Given the description of an element on the screen output the (x, y) to click on. 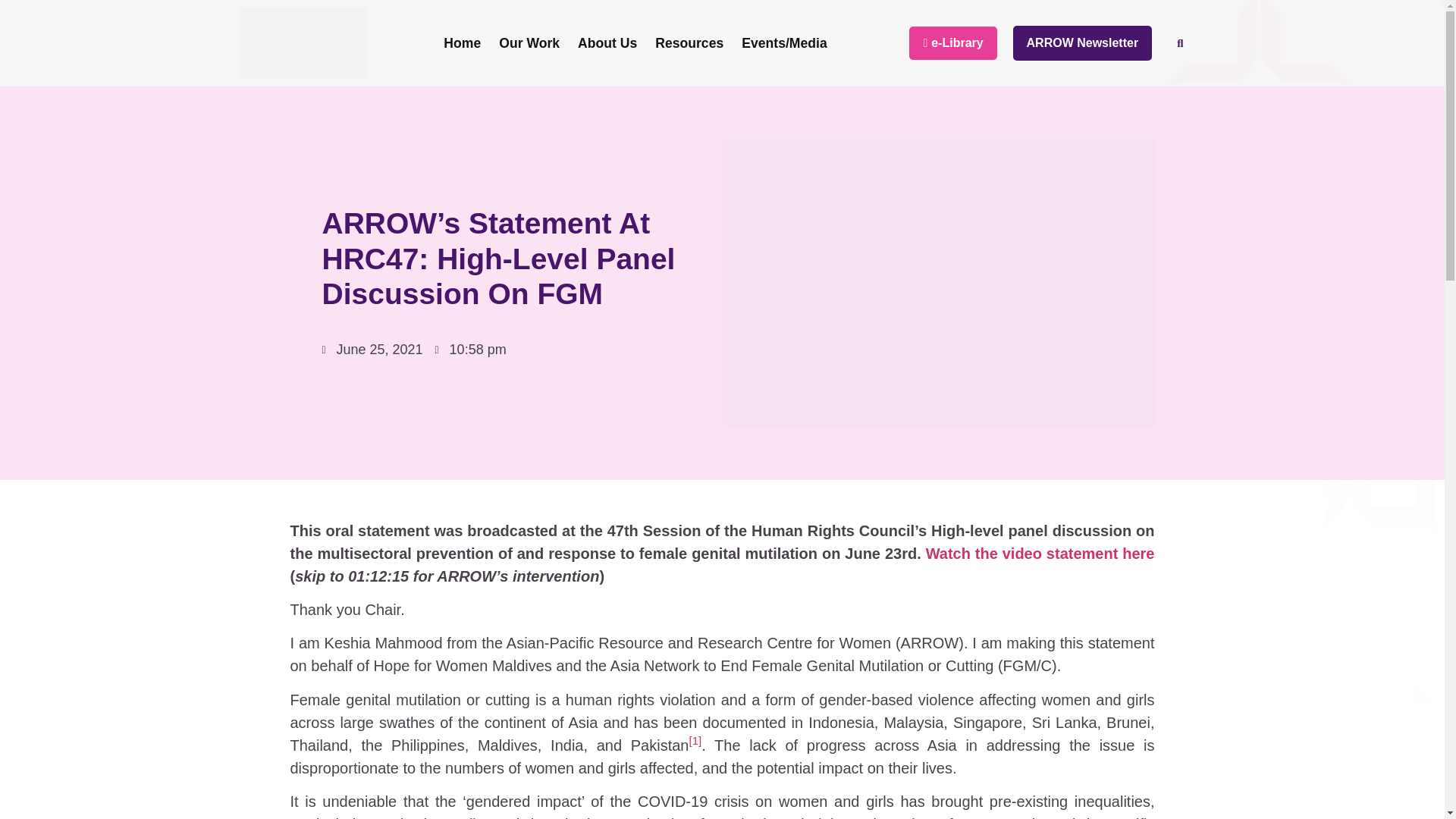
ARROW Newsletter (1083, 42)
Home (461, 42)
e-Library (951, 42)
Resources (689, 42)
Our Work (529, 42)
About Us (607, 42)
